Given the description of an element on the screen output the (x, y) to click on. 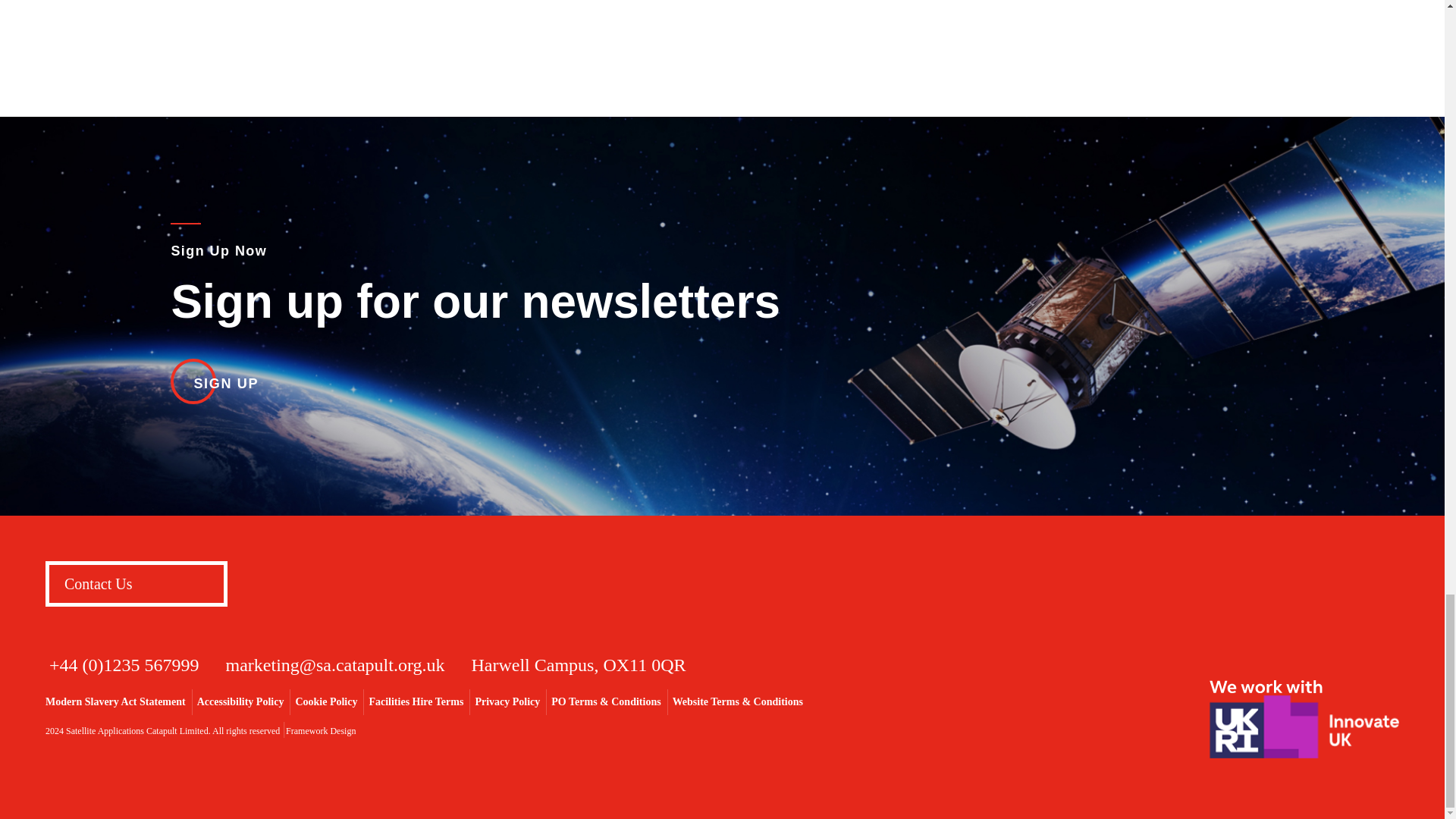
Framework Design (320, 730)
Innovate UK - Part of UK Research and Innovation. (1304, 719)
